Given the description of an element on the screen output the (x, y) to click on. 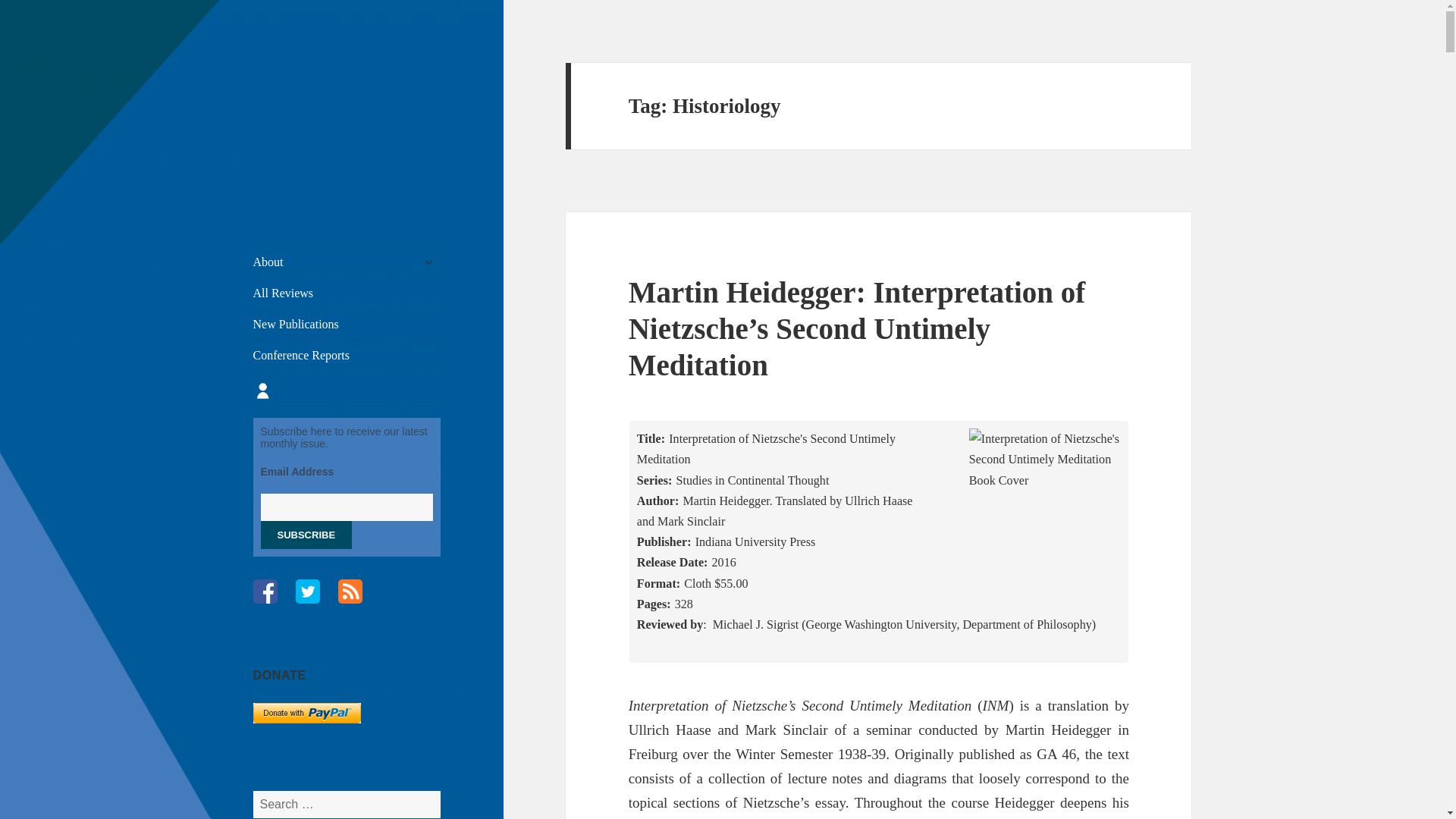
About (347, 262)
Subscribe (306, 534)
Phenomenological Reviews (344, 86)
Conference Reports (347, 355)
Subscribe (306, 534)
expand child menu (428, 262)
All Reviews (347, 293)
New Publications (347, 324)
